Given the description of an element on the screen output the (x, y) to click on. 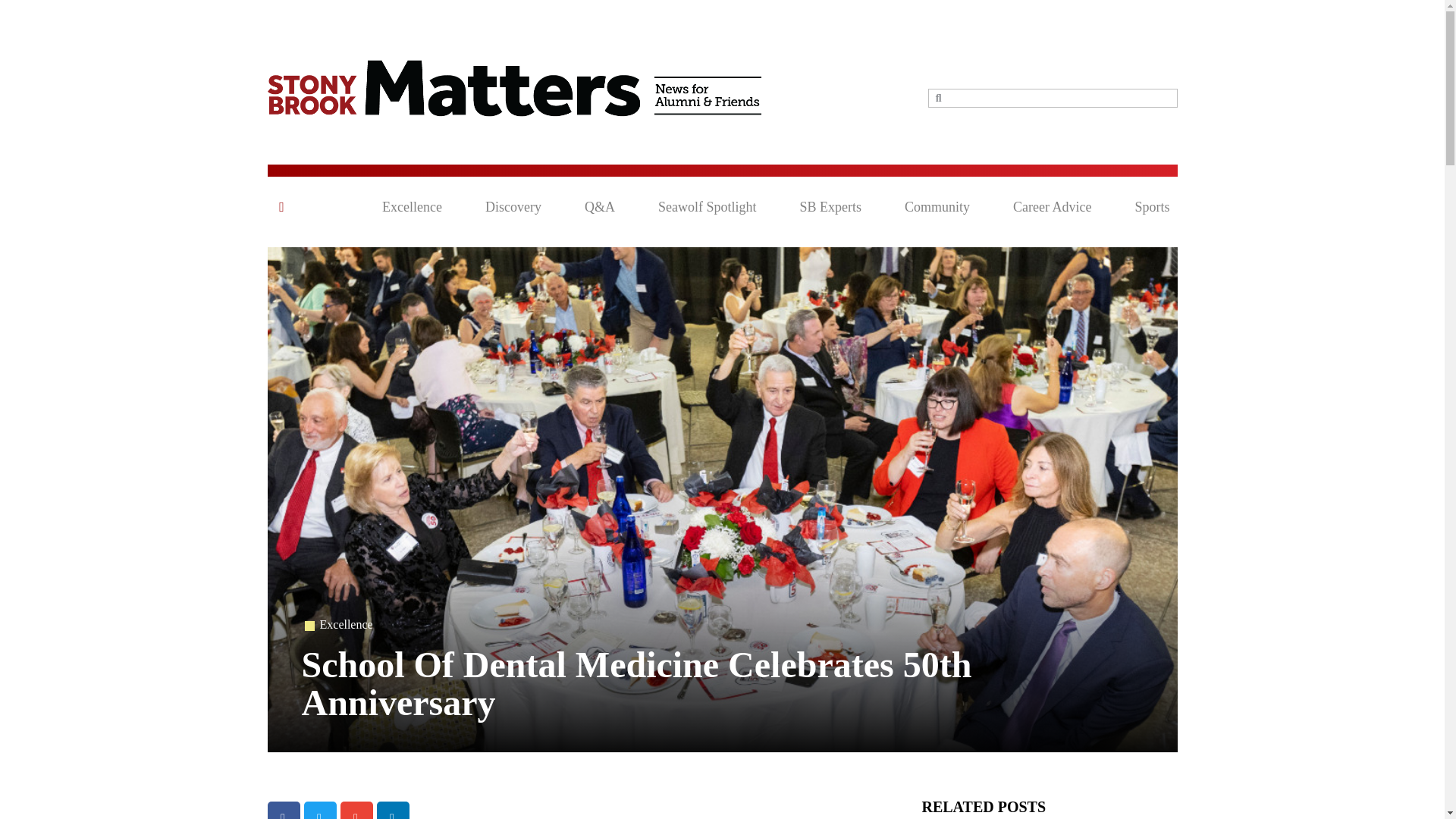
Excellence (346, 624)
Sports (1151, 206)
SB Experts (830, 206)
Career Advice (1051, 206)
Discovery (512, 206)
Community (936, 206)
Excellence (411, 206)
Seawolf Spotlight (707, 206)
